Given the description of an element on the screen output the (x, y) to click on. 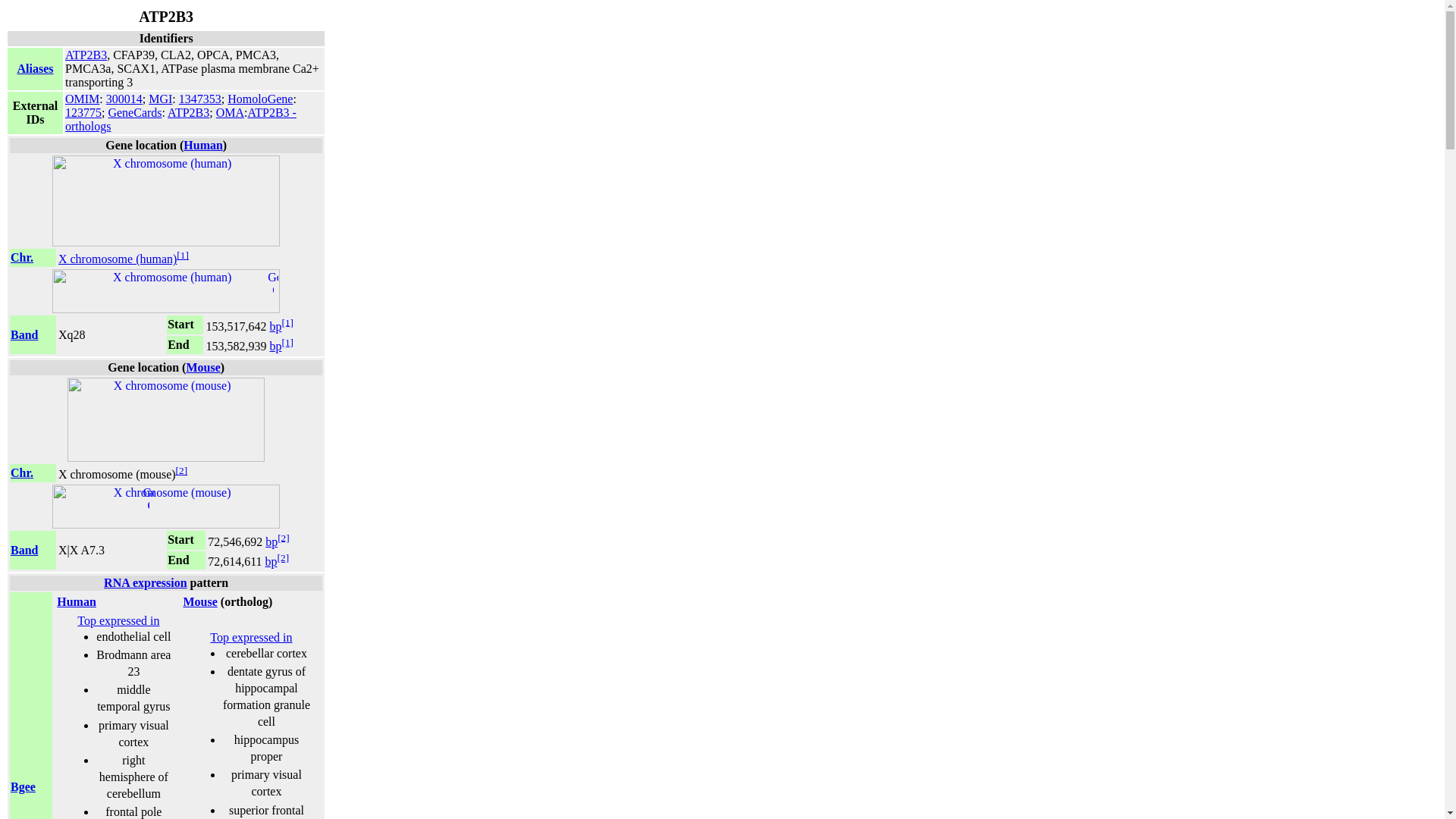
Base pair (275, 345)
ATP2B3 (85, 54)
300014 (124, 98)
Human (76, 601)
Bgee (22, 786)
Gene nomenclature (34, 68)
Band (23, 334)
Human genome (202, 144)
Chr. (21, 472)
HomoloGene (259, 98)
